Given the description of an element on the screen output the (x, y) to click on. 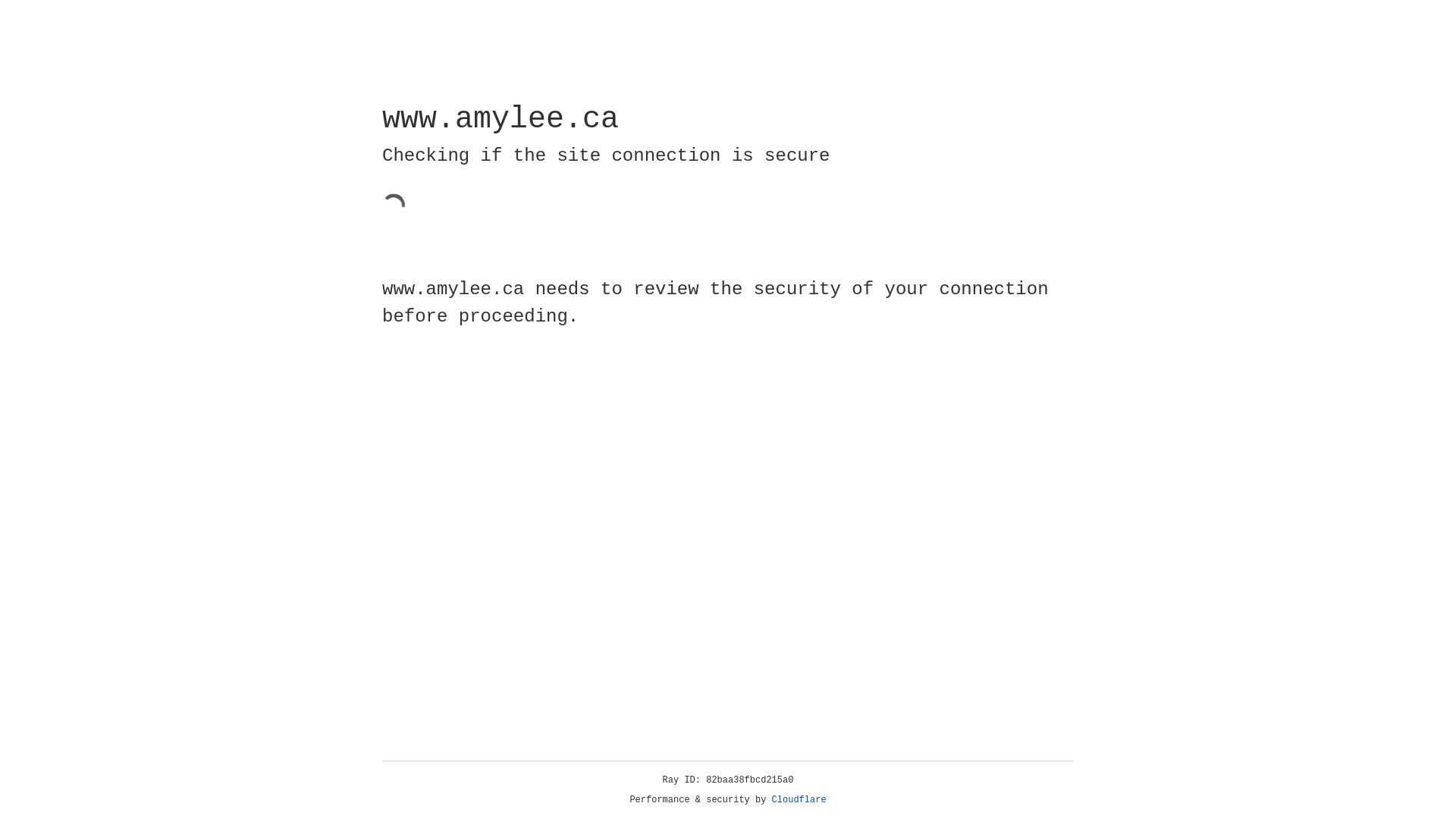
Cloudflare Element type: text (798, 799)
